Given the description of an element on the screen output the (x, y) to click on. 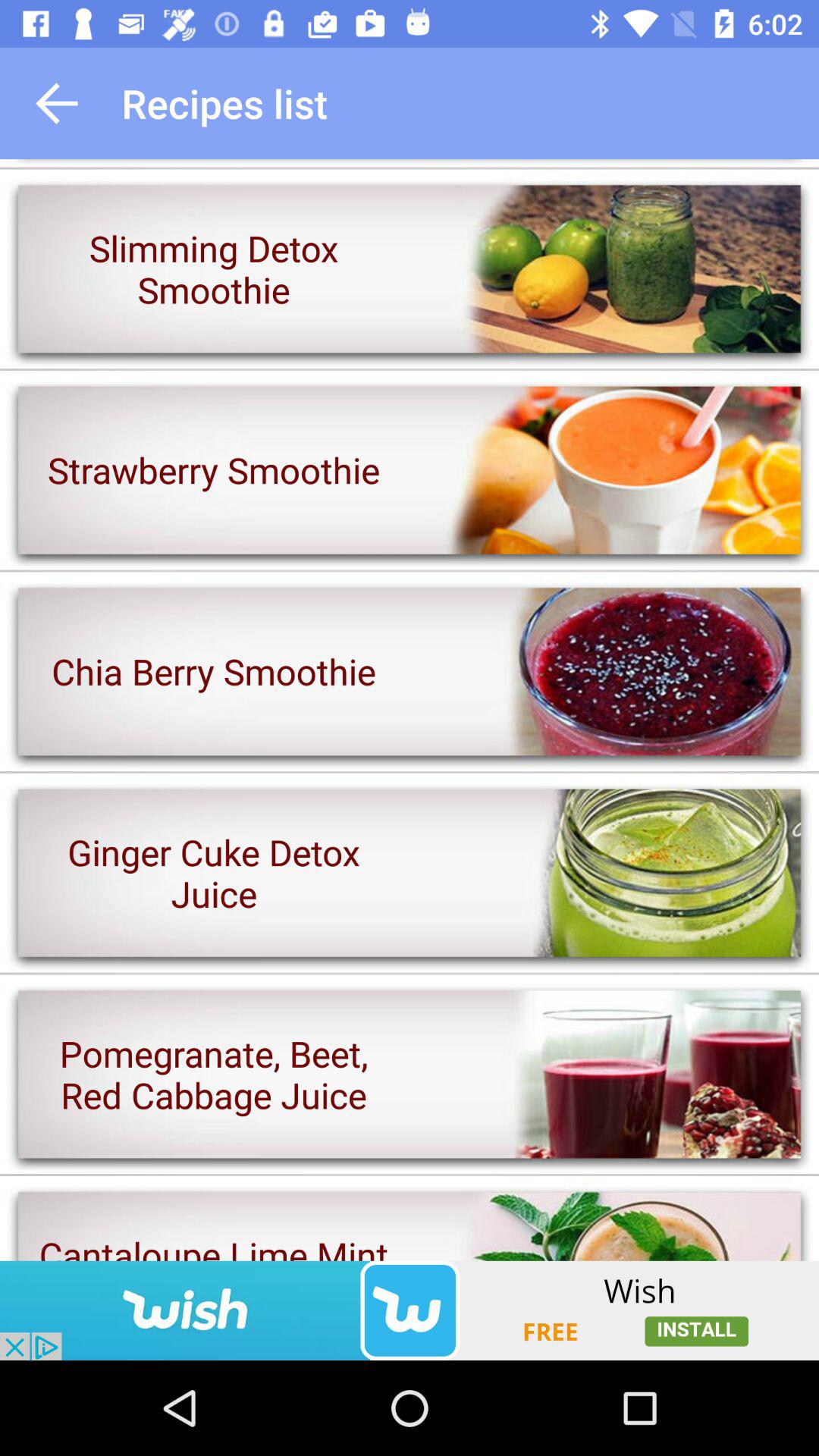
advertisement link (409, 1310)
